Given the description of an element on the screen output the (x, y) to click on. 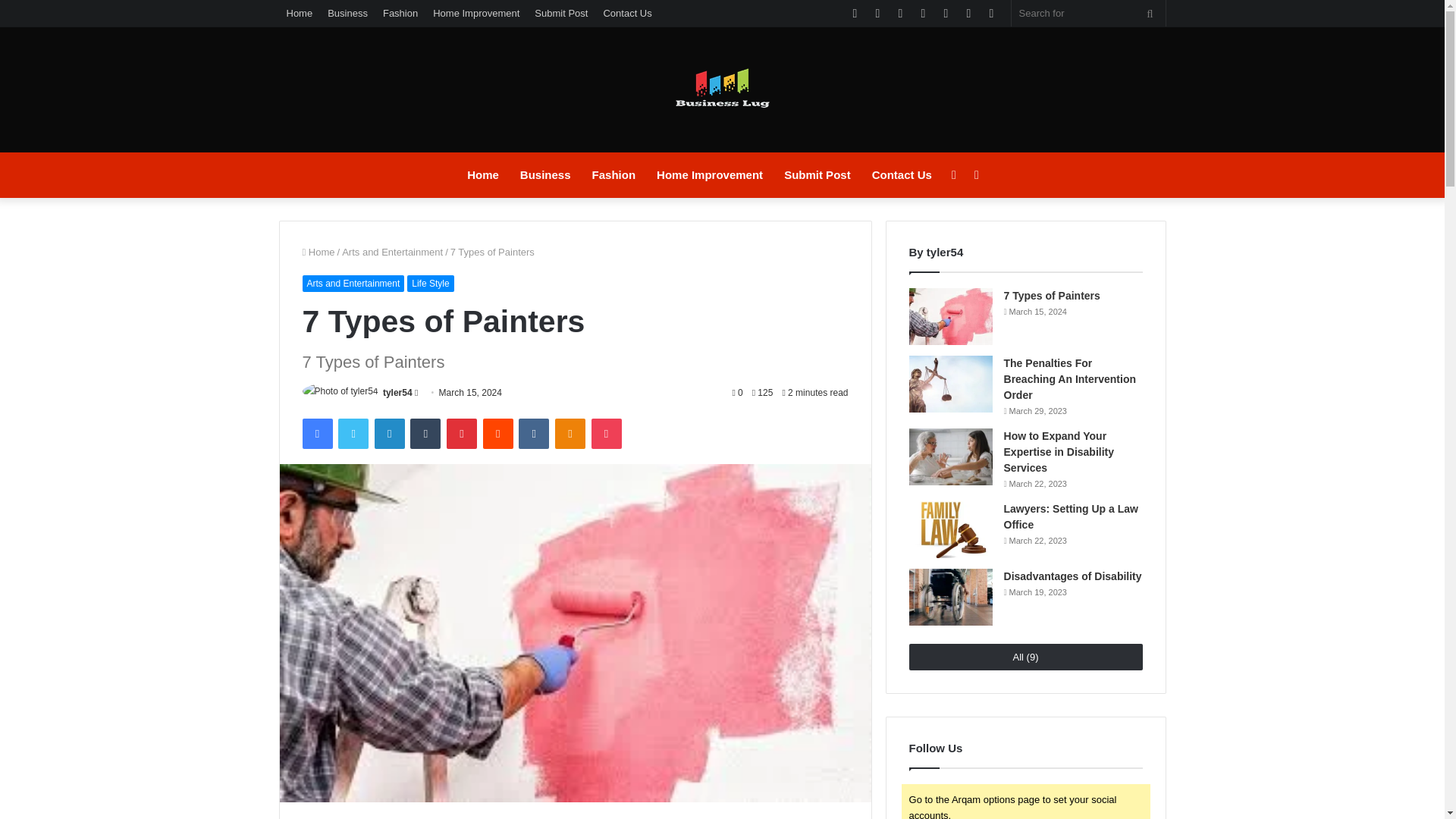
Submit Post (817, 175)
tyler54 (397, 392)
Home Improvement (476, 13)
Home (317, 251)
Contact Us (627, 13)
Reddit (498, 433)
Tumblr (425, 433)
Home Improvement (709, 175)
Arts and Entertainment (392, 251)
Reddit (498, 433)
Business (544, 175)
Fashion (613, 175)
Pinterest (461, 433)
Pinterest (461, 433)
tyler54 (397, 392)
